Given the description of an element on the screen output the (x, y) to click on. 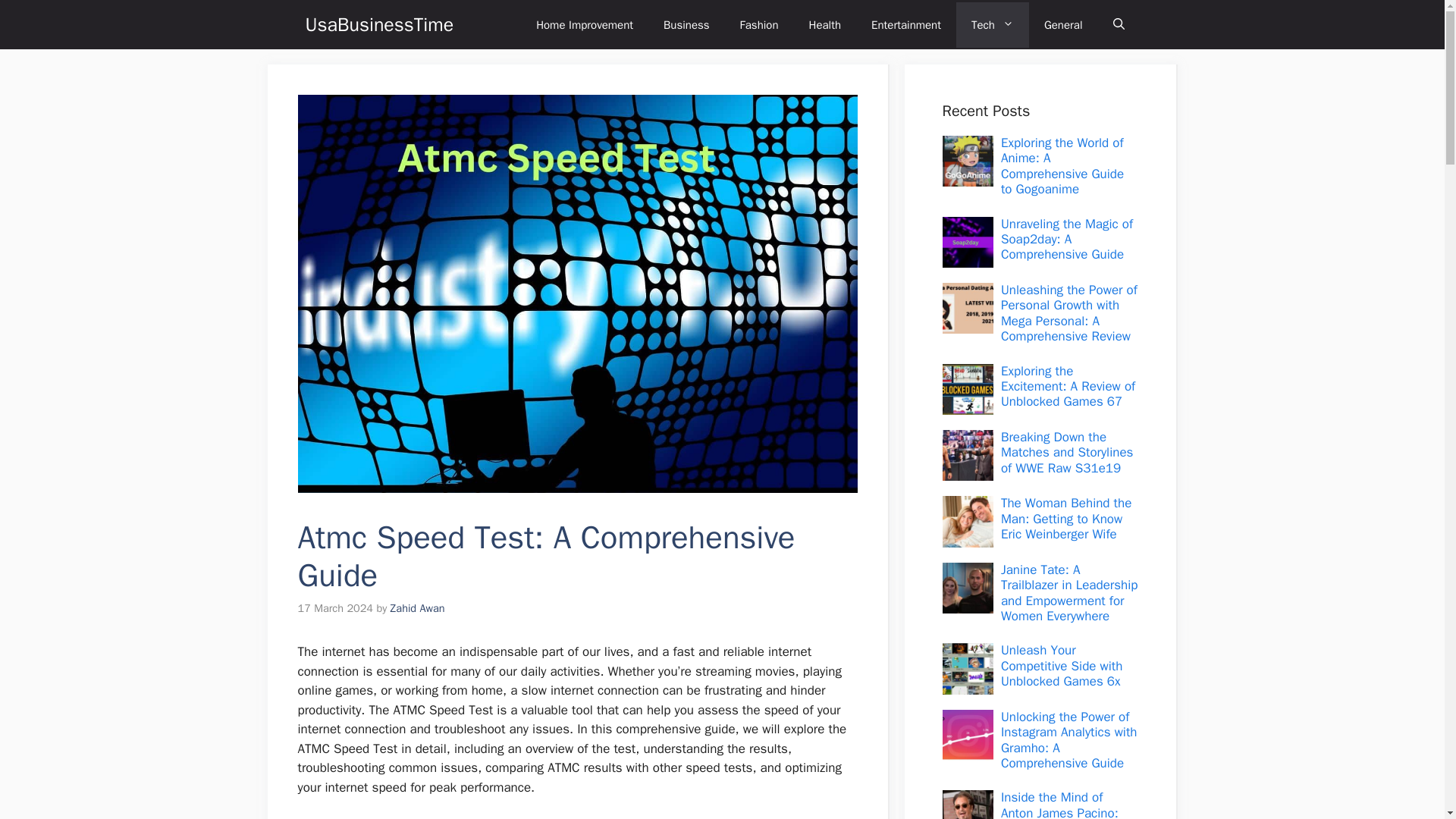
Breaking Down the Matches and Storylines of WWE Raw S31e19 (1067, 452)
Entertainment (906, 23)
General (1063, 23)
Business (686, 23)
Unleash Your Competitive Side with Unblocked Games 6x (1061, 665)
Unraveling the Magic of Soap2day: A Comprehensive Guide (1066, 239)
View all posts by Zahid Awan (417, 608)
Exploring the Excitement: A Review of Unblocked Games 67 (1068, 386)
Health (825, 23)
Tech (992, 23)
